Given the description of an element on the screen output the (x, y) to click on. 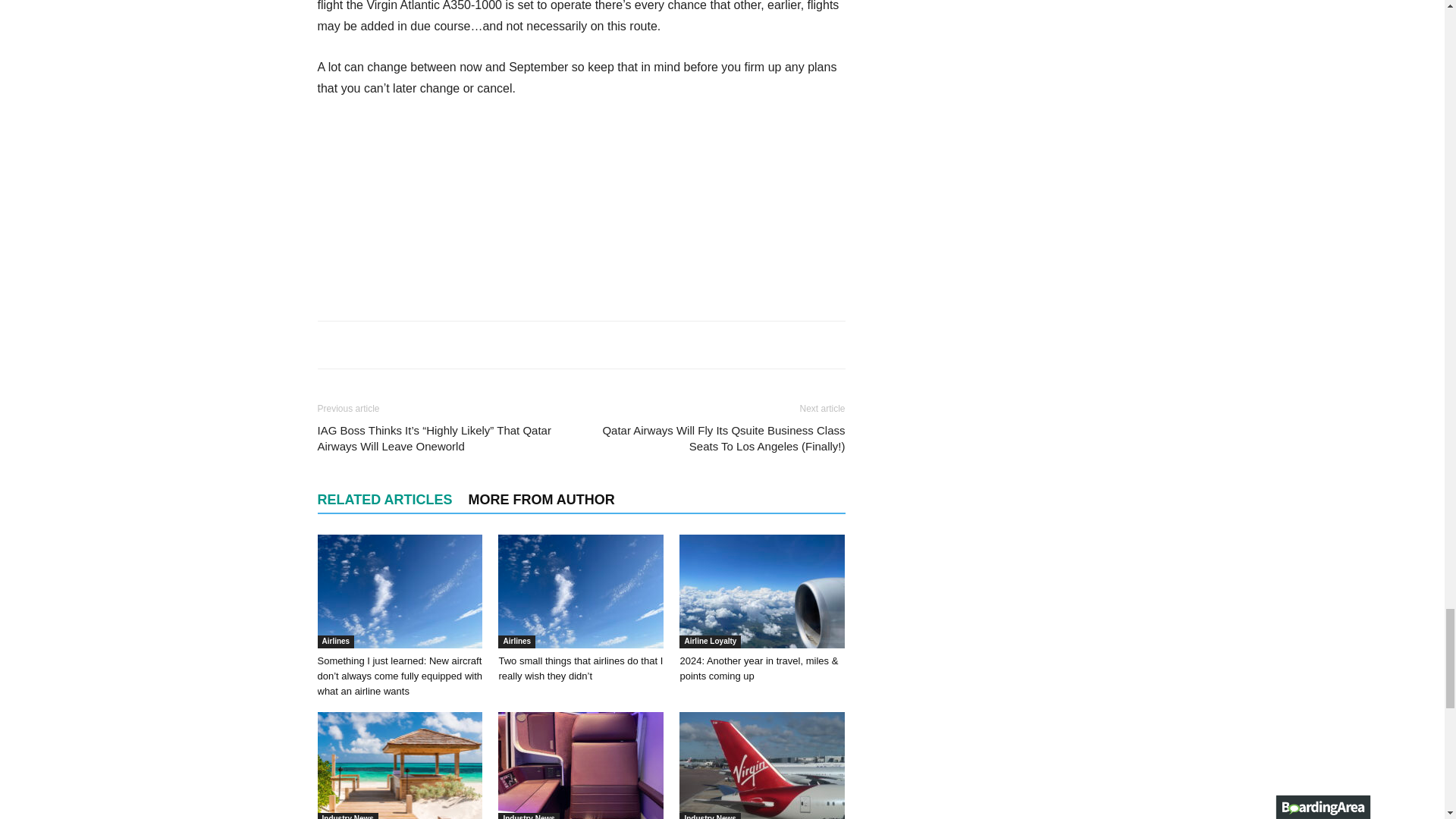
bottomFacebookLike (430, 344)
